Given the description of an element on the screen output the (x, y) to click on. 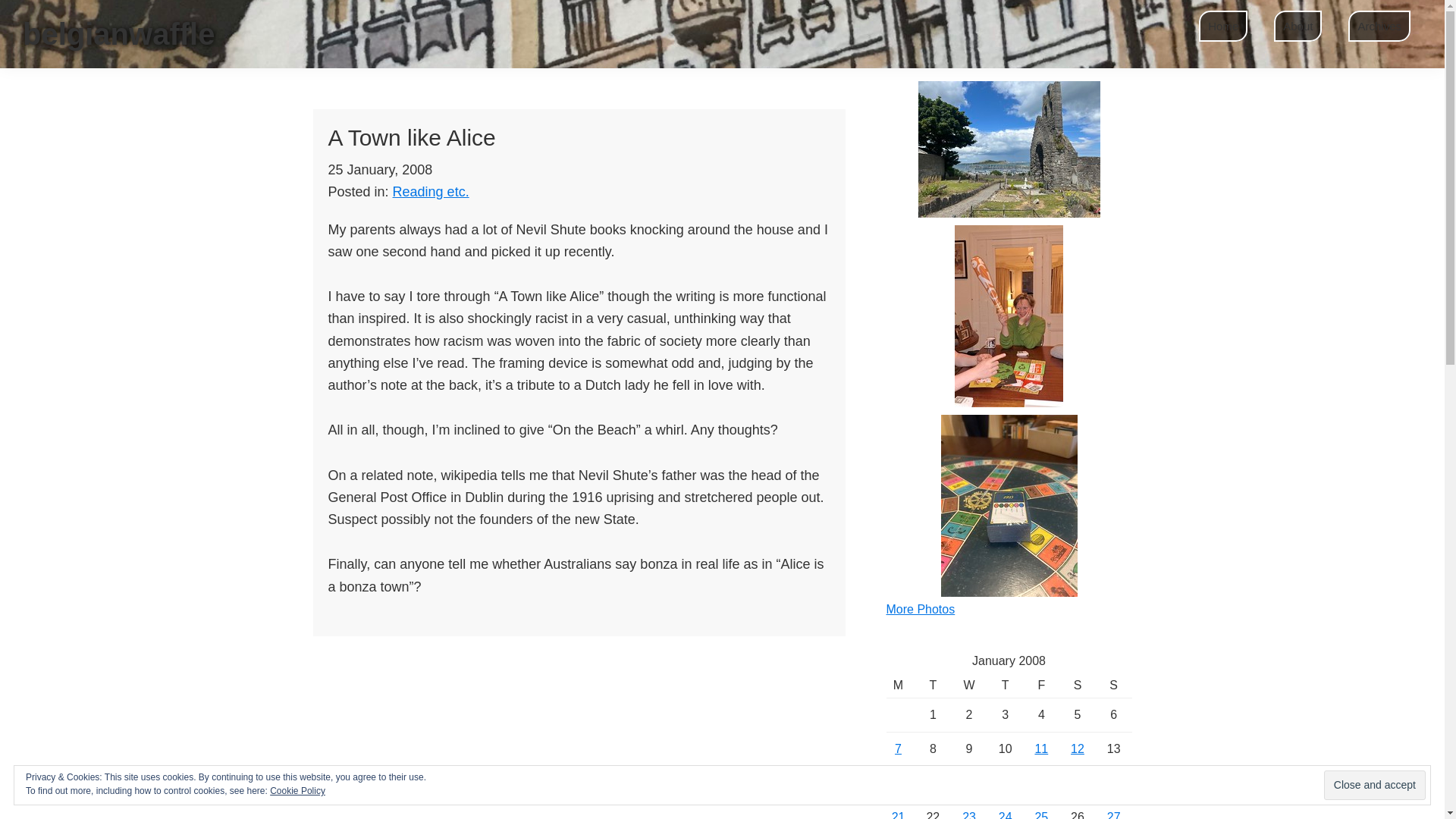
Saturday (1077, 685)
12 (1077, 748)
Tuesday (933, 685)
25 (1040, 814)
Home (1223, 25)
11 (1040, 748)
21 (898, 814)
19 (1077, 782)
Reading etc. (430, 191)
Archives (1379, 25)
23 (968, 814)
A Town like Alice (411, 137)
15 (932, 782)
24 (1004, 814)
18 (1040, 782)
